Given the description of an element on the screen output the (x, y) to click on. 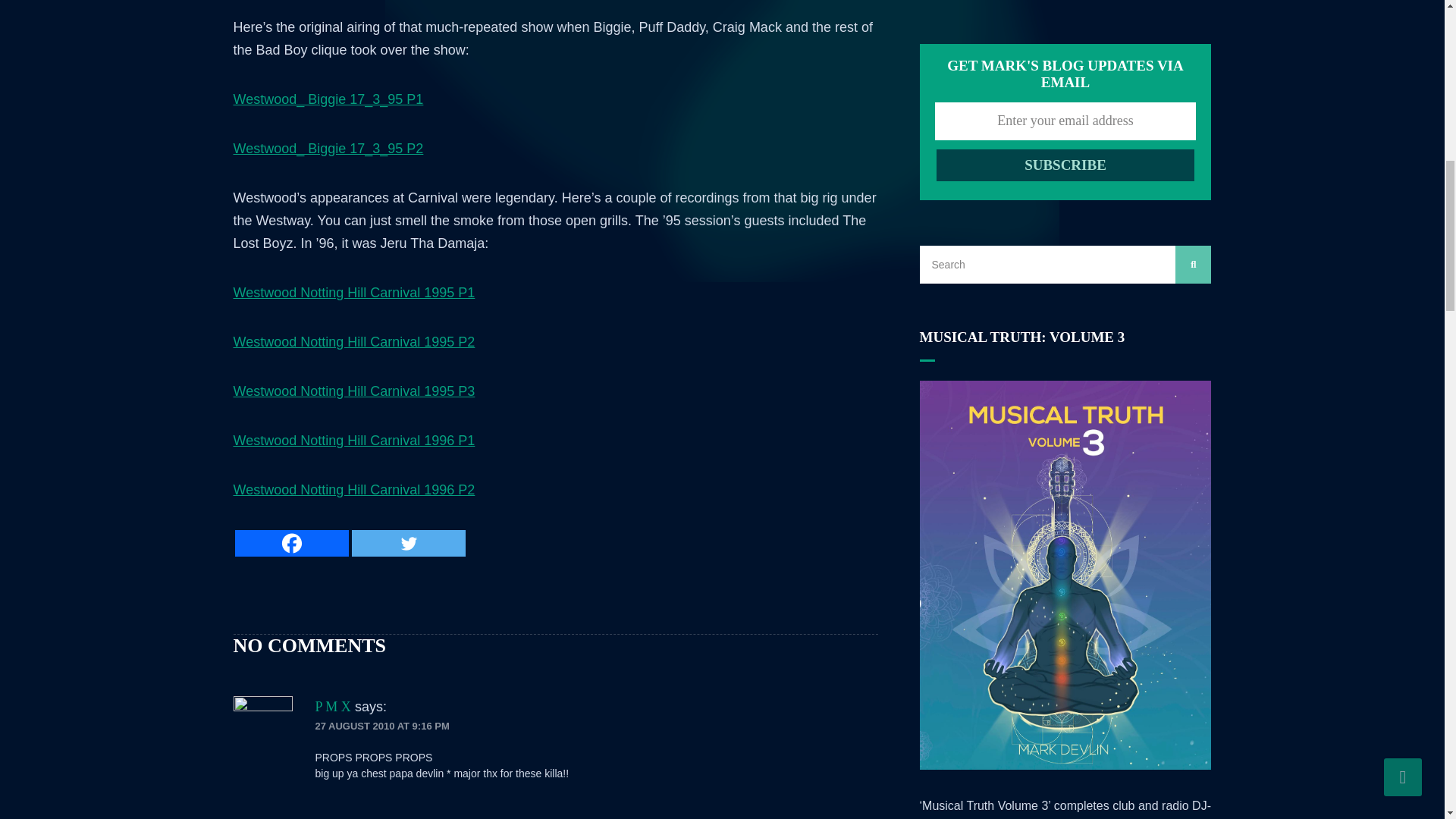
Twitter (408, 542)
Facebook (291, 542)
SUBSCRIBE (1064, 165)
